Given the description of an element on the screen output the (x, y) to click on. 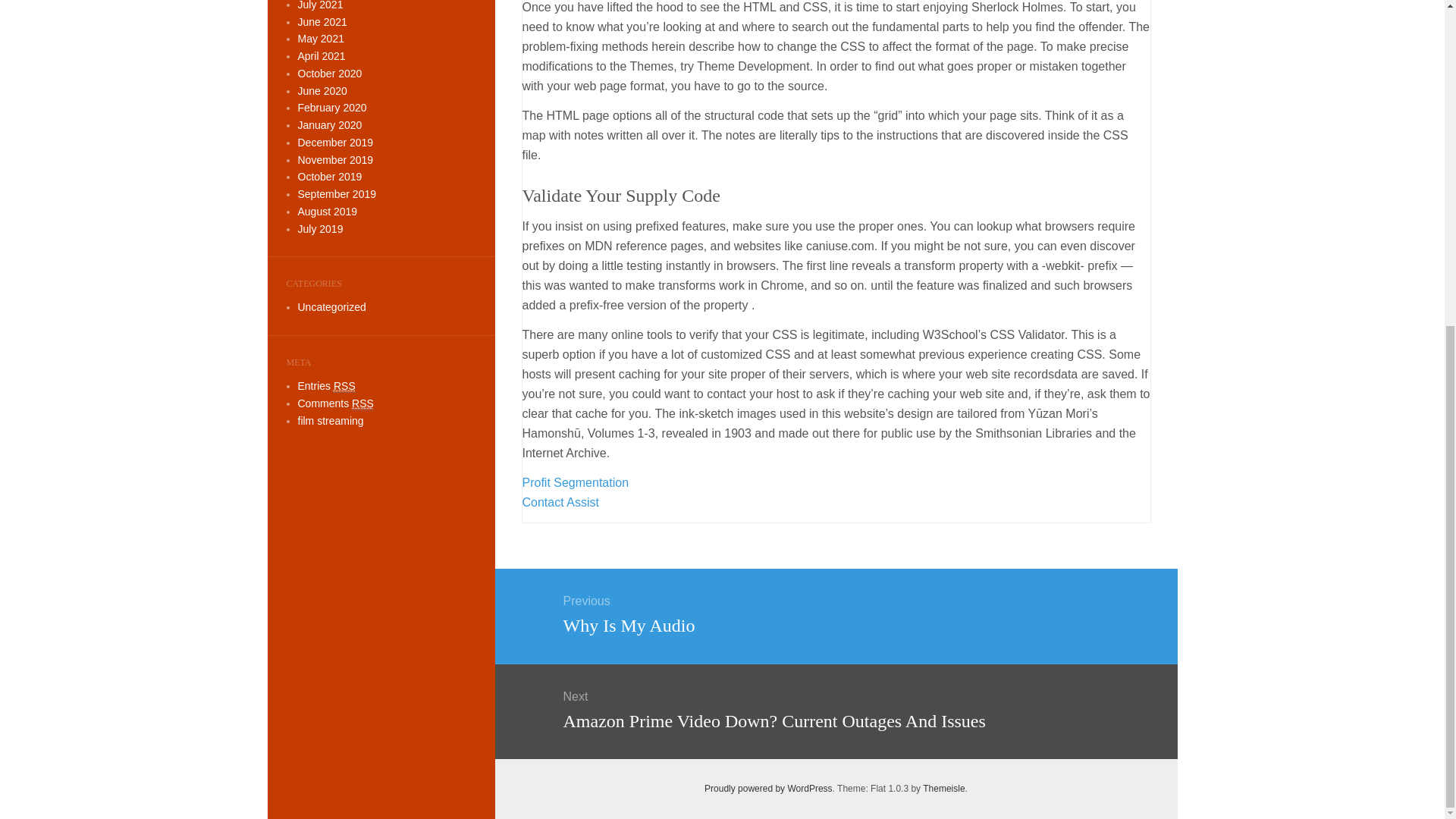
Flat WordPress Theme (943, 787)
Really Simple Syndication (344, 386)
Entries RSS (326, 386)
Semantic Personal Publishing Platform (768, 787)
November 2019 (334, 159)
September 2019 (336, 193)
December 2019 (334, 142)
Really Simple Syndication (363, 403)
film streaming (329, 420)
August 2019 (835, 612)
Uncategorized (326, 211)
February 2020 (331, 306)
Themeisle (331, 107)
October 2019 (943, 787)
